Given the description of an element on the screen output the (x, y) to click on. 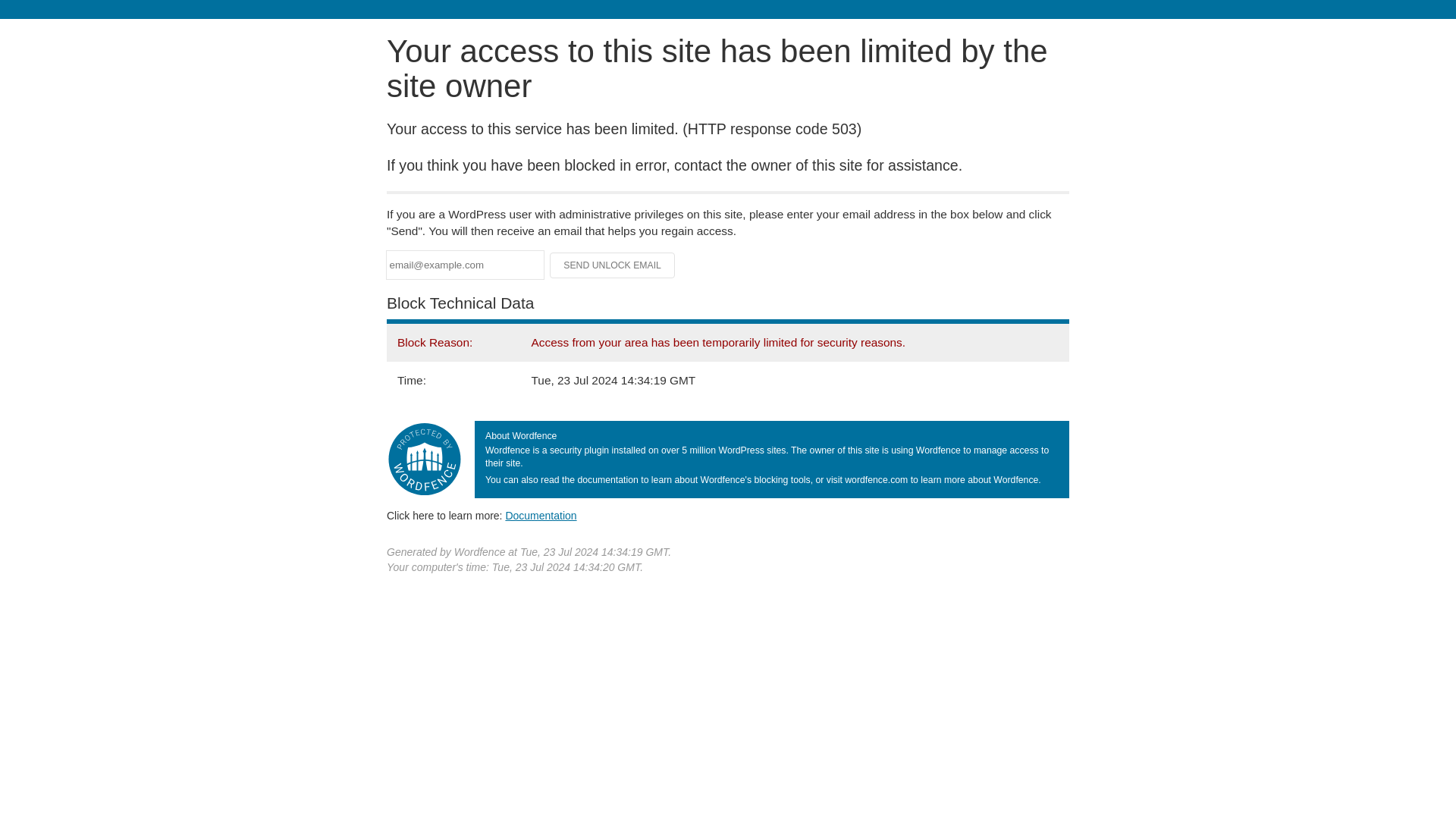
Send Unlock Email (612, 265)
Documentation (540, 515)
Send Unlock Email (612, 265)
